Given the description of an element on the screen output the (x, y) to click on. 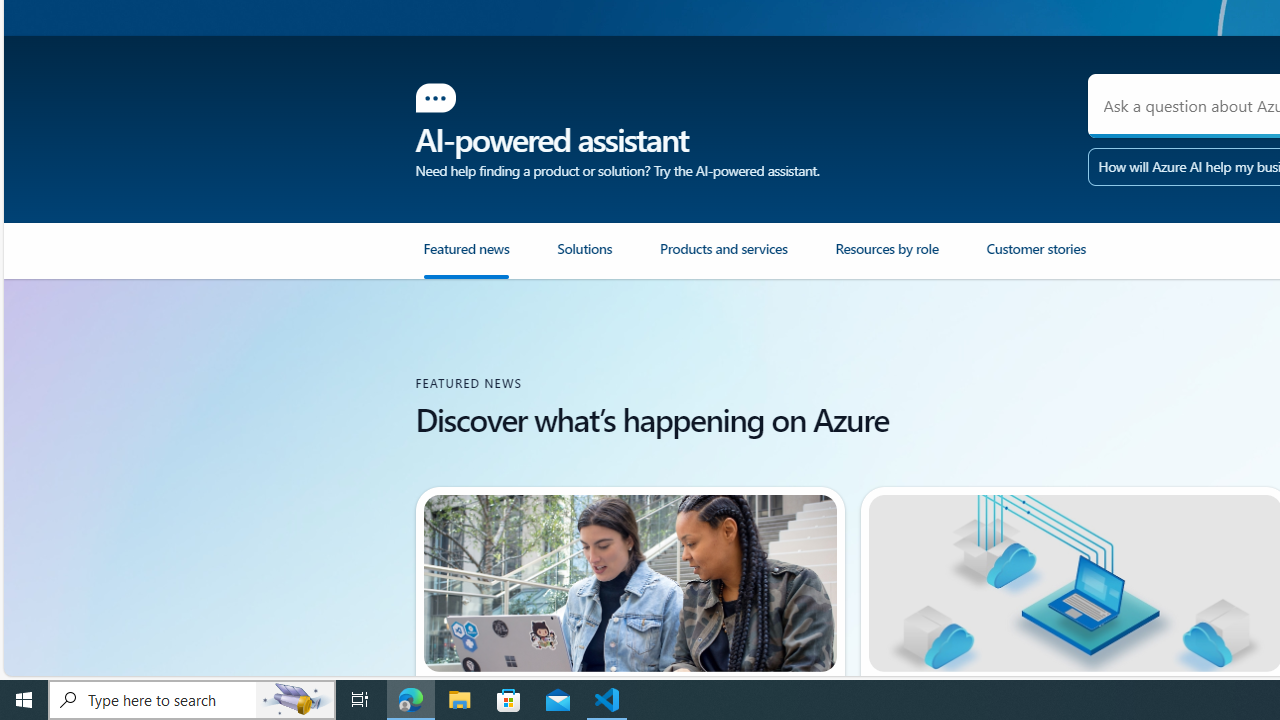
Featured news (488, 259)
Solutions (584, 257)
Products and services (747, 259)
Solutions (608, 259)
Customer stories (1035, 257)
Products and services (724, 257)
Resources by role (910, 259)
Featured news (465, 257)
Resources by role (886, 257)
Customer stories (1061, 259)
